Given the description of an element on the screen output the (x, y) to click on. 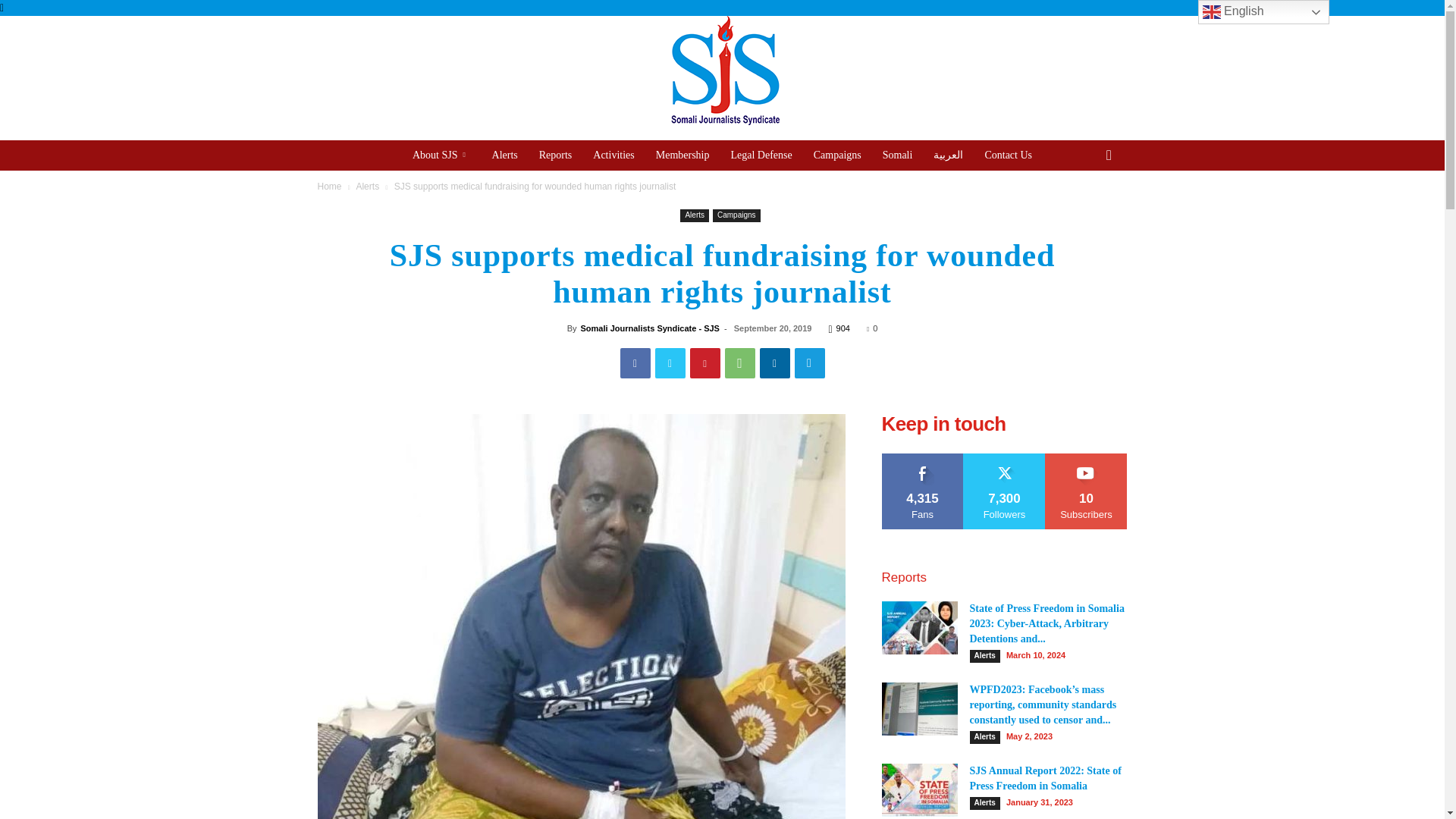
Facebook (635, 363)
Membership (682, 155)
About SJS (441, 155)
Telegram (809, 363)
Legal Defense (761, 155)
Pinterest (705, 363)
Reports (555, 155)
Contact Us (1008, 155)
Linkedin (775, 363)
View all posts in Alerts (366, 185)
Alerts (366, 185)
Campaigns (837, 155)
